Given the description of an element on the screen output the (x, y) to click on. 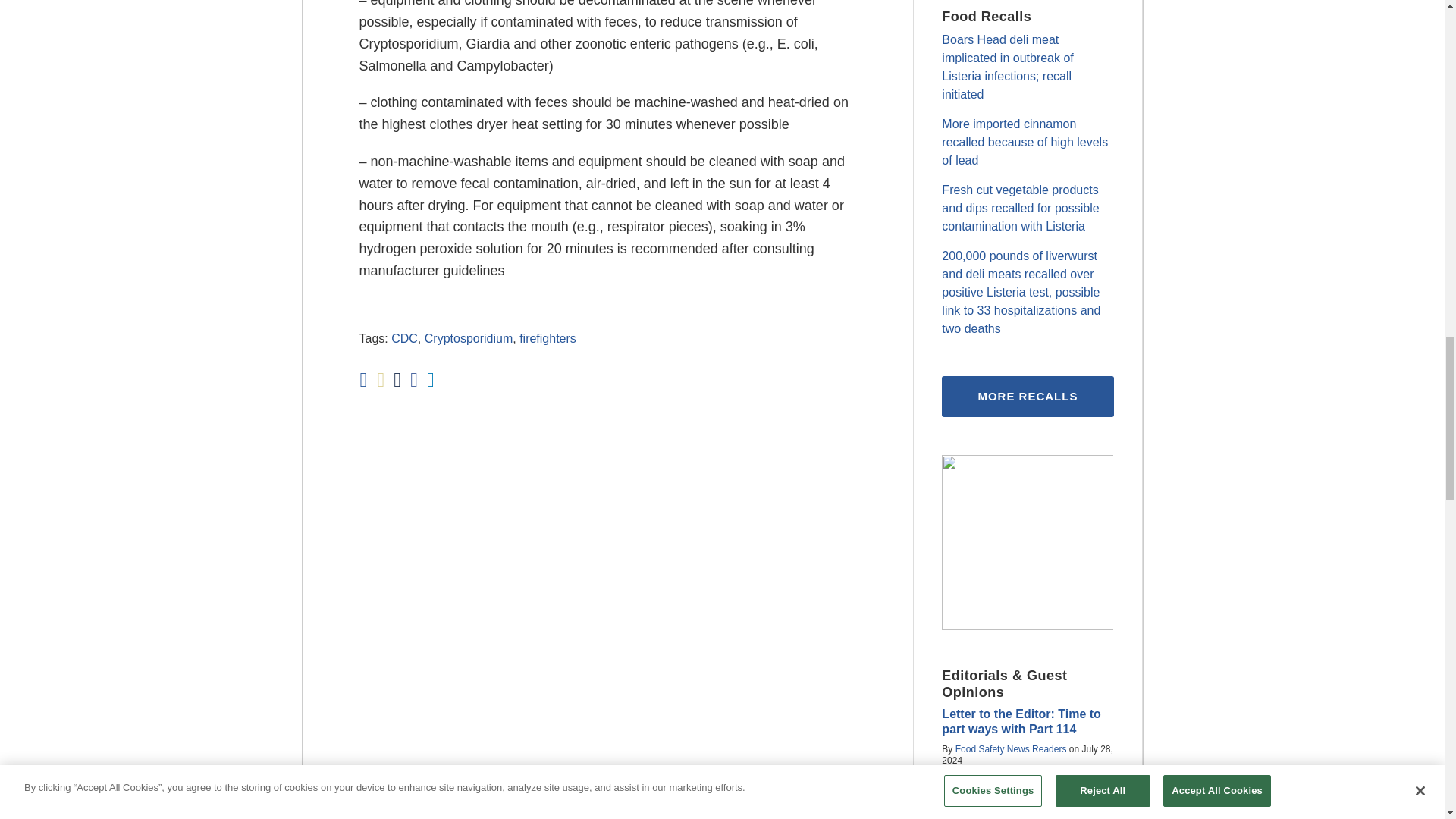
CDC (404, 338)
firefighters (547, 338)
Cryptosporidium (468, 338)
